Given the description of an element on the screen output the (x, y) to click on. 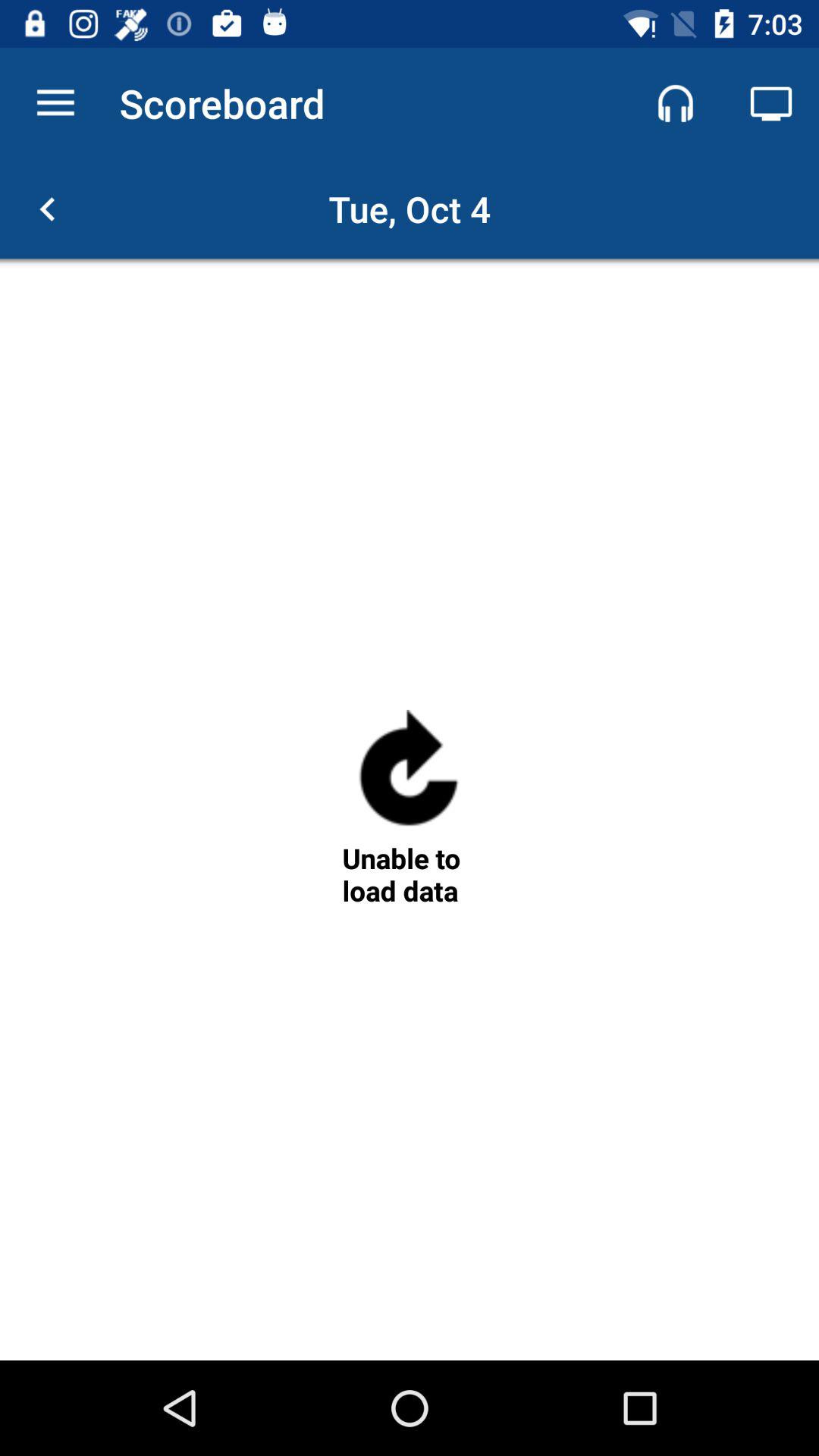
swipe until tue, oct 4 icon (409, 208)
